Given the description of an element on the screen output the (x, y) to click on. 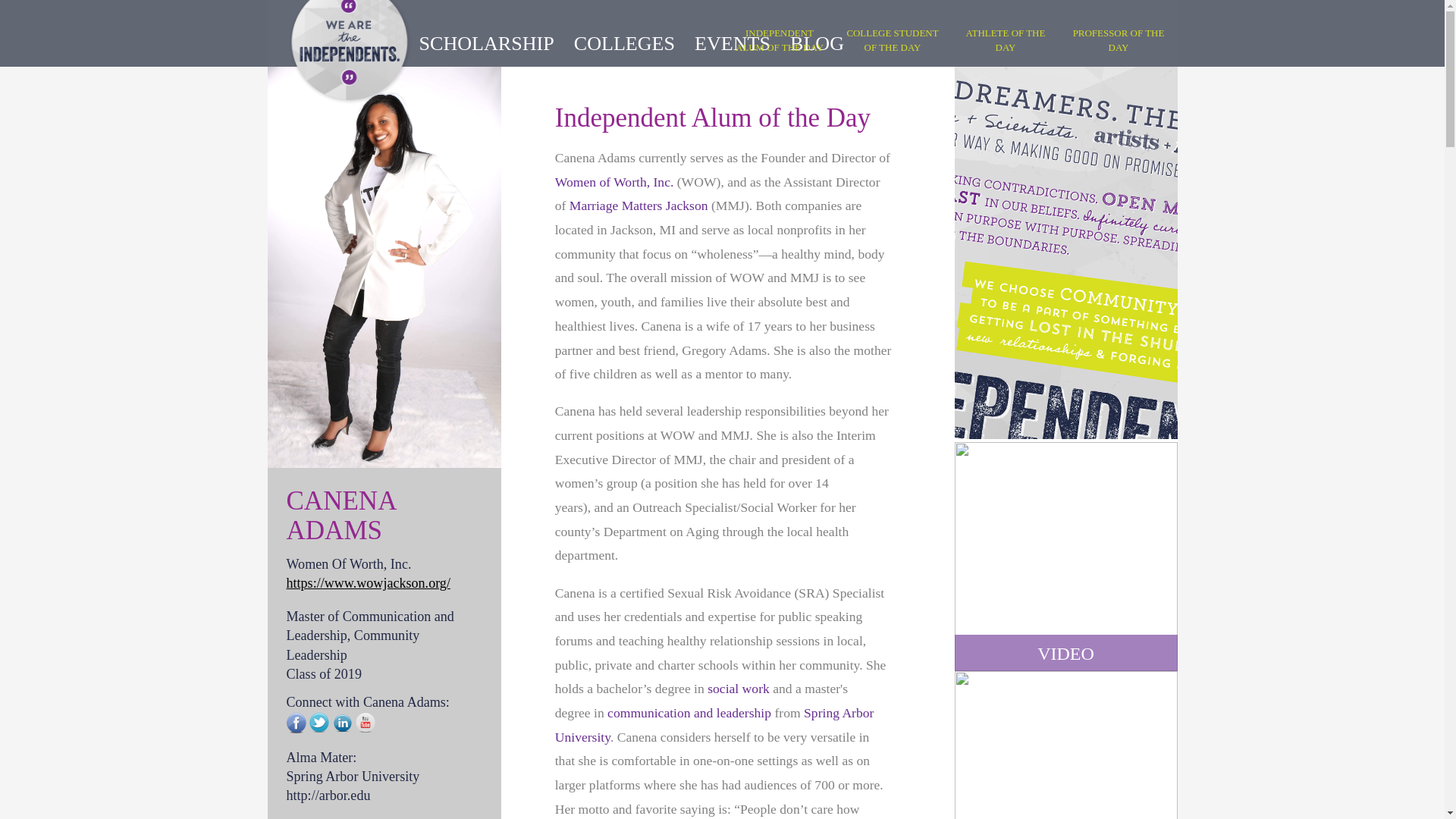
COLLEGE STUDENT OF THE DAY (891, 39)
BLOG (817, 42)
Spring Arbor University (714, 724)
Marriage Matters Jackson (638, 205)
communication and leadership (689, 712)
WATCH THE MANIFESTO VIDEO (1064, 556)
SCHOLARSHIP (486, 42)
Women of Worth, Inc. (614, 181)
social work (738, 688)
COLLEGES (624, 42)
